Given the description of an element on the screen output the (x, y) to click on. 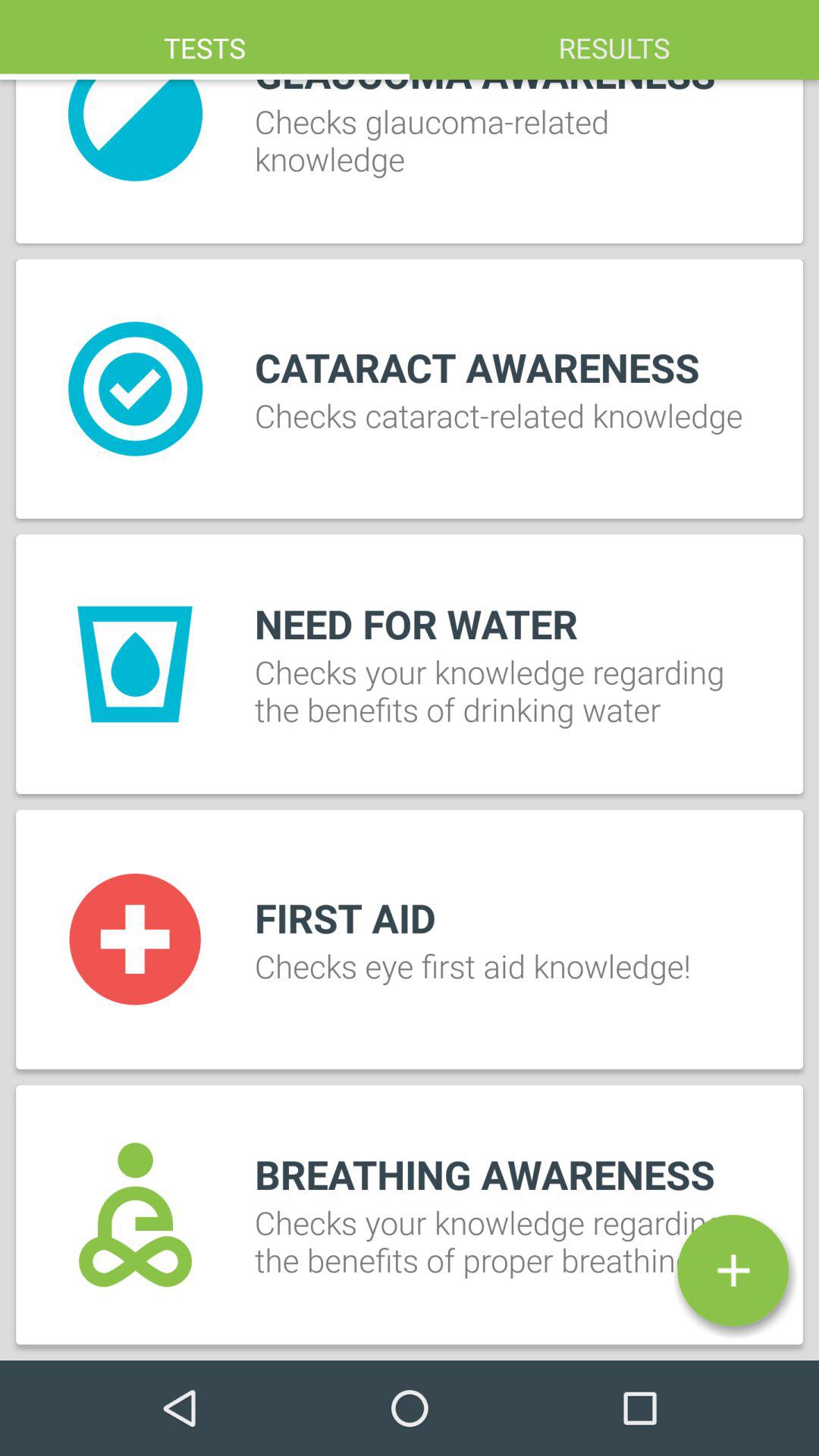
click the item below breathing awareness (733, 1270)
